Given the description of an element on the screen output the (x, y) to click on. 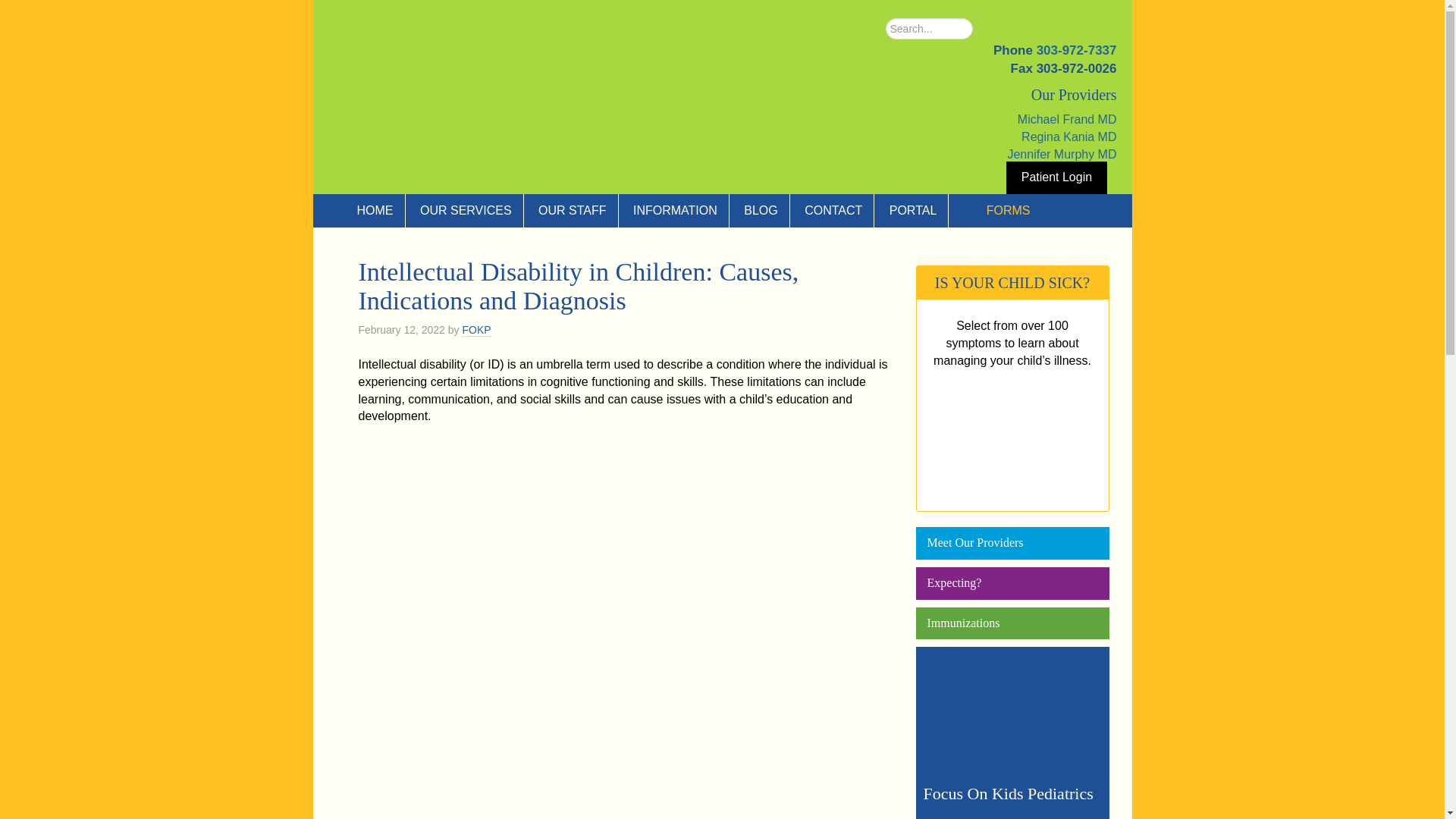
Regina Kania MD (1069, 136)
PORTAL (913, 210)
BLOG (760, 210)
Patient Login (1056, 177)
HOME (365, 210)
CONTACT (834, 210)
FORMS (997, 210)
INFORMATION (675, 210)
Jennifer Murphy MD (1061, 154)
Focus On Kids (460, 97)
303-972-7337 (1076, 50)
Michael Frand MD (1066, 119)
